Given the description of an element on the screen output the (x, y) to click on. 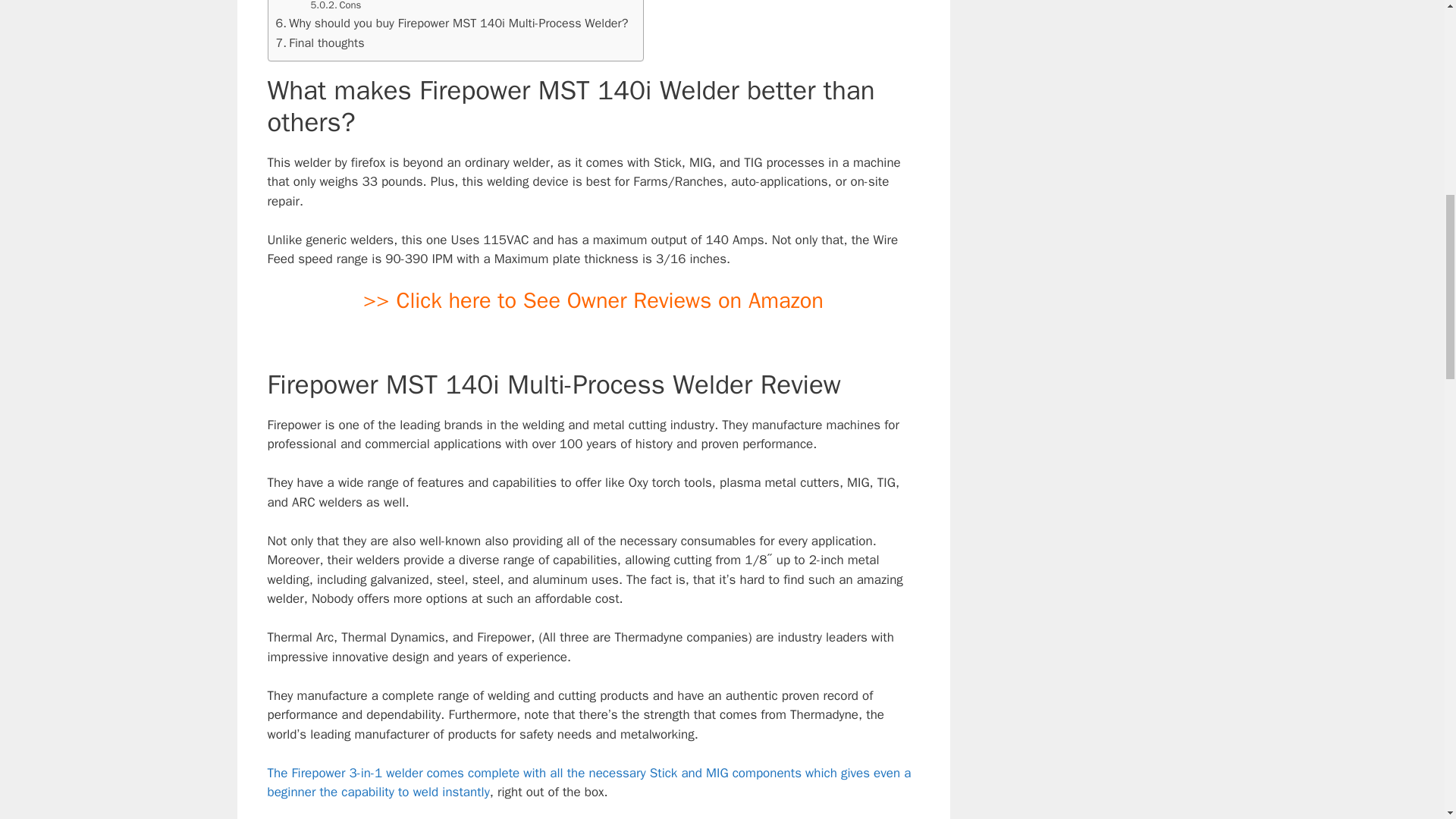
Scroll back to top (1406, 720)
Final thoughts (320, 43)
Cons (336, 6)
Final thoughts (320, 43)
Cons (336, 6)
Why should you buy Firepower MST 140i Multi-Process Welder? (452, 23)
Why should you buy Firepower MST 140i Multi-Process Welder? (452, 23)
